Given the description of an element on the screen output the (x, y) to click on. 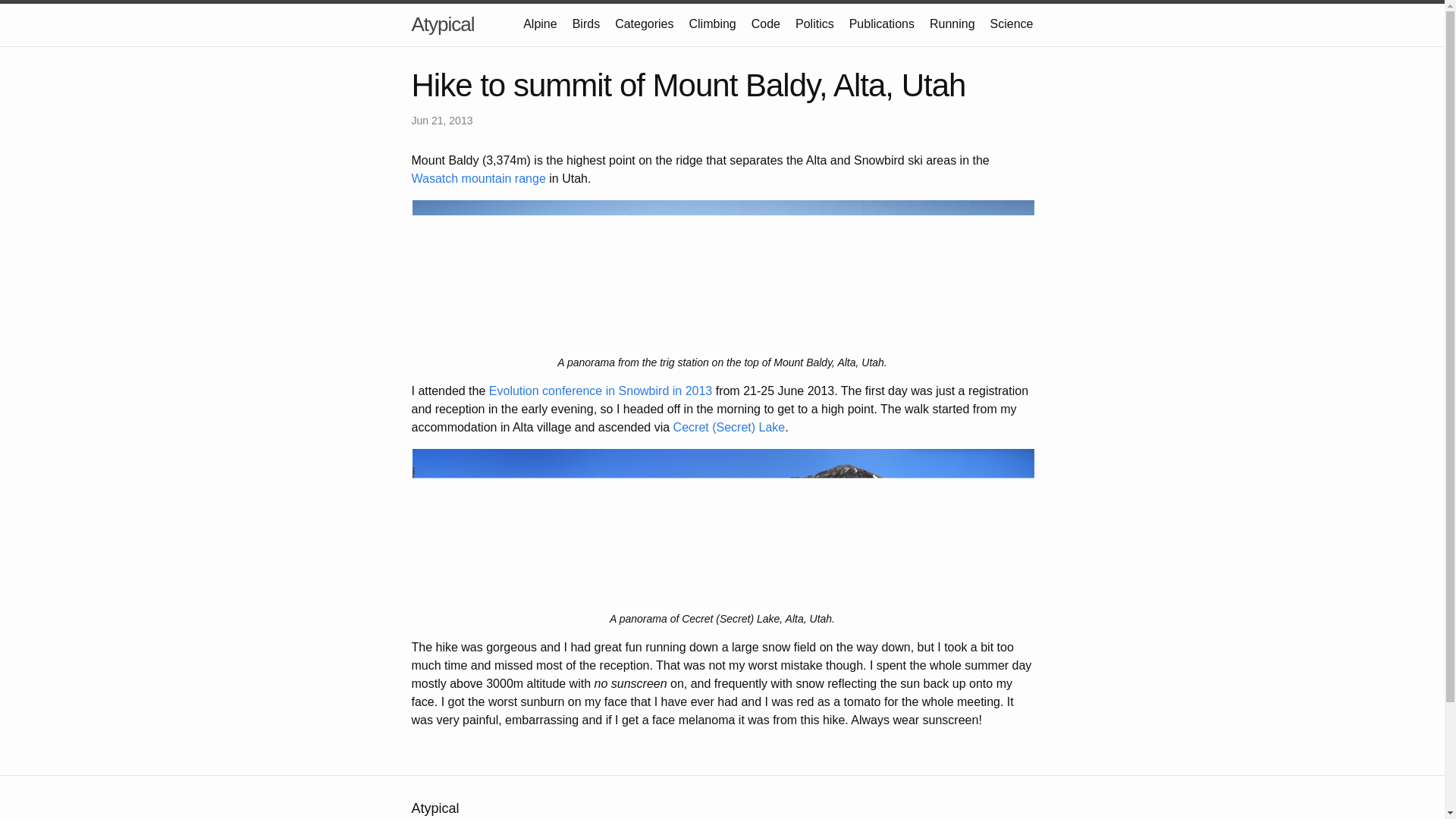
Evolution conference in Snowbird in 2013 (600, 390)
Climbing (711, 23)
Categories (643, 23)
Wasatch mountain range (477, 178)
Birds (585, 23)
Politics (814, 23)
Publications (881, 23)
Alpine (539, 23)
Atypical (442, 24)
Science (1011, 23)
Code (765, 23)
Running (952, 23)
